Given the description of an element on the screen output the (x, y) to click on. 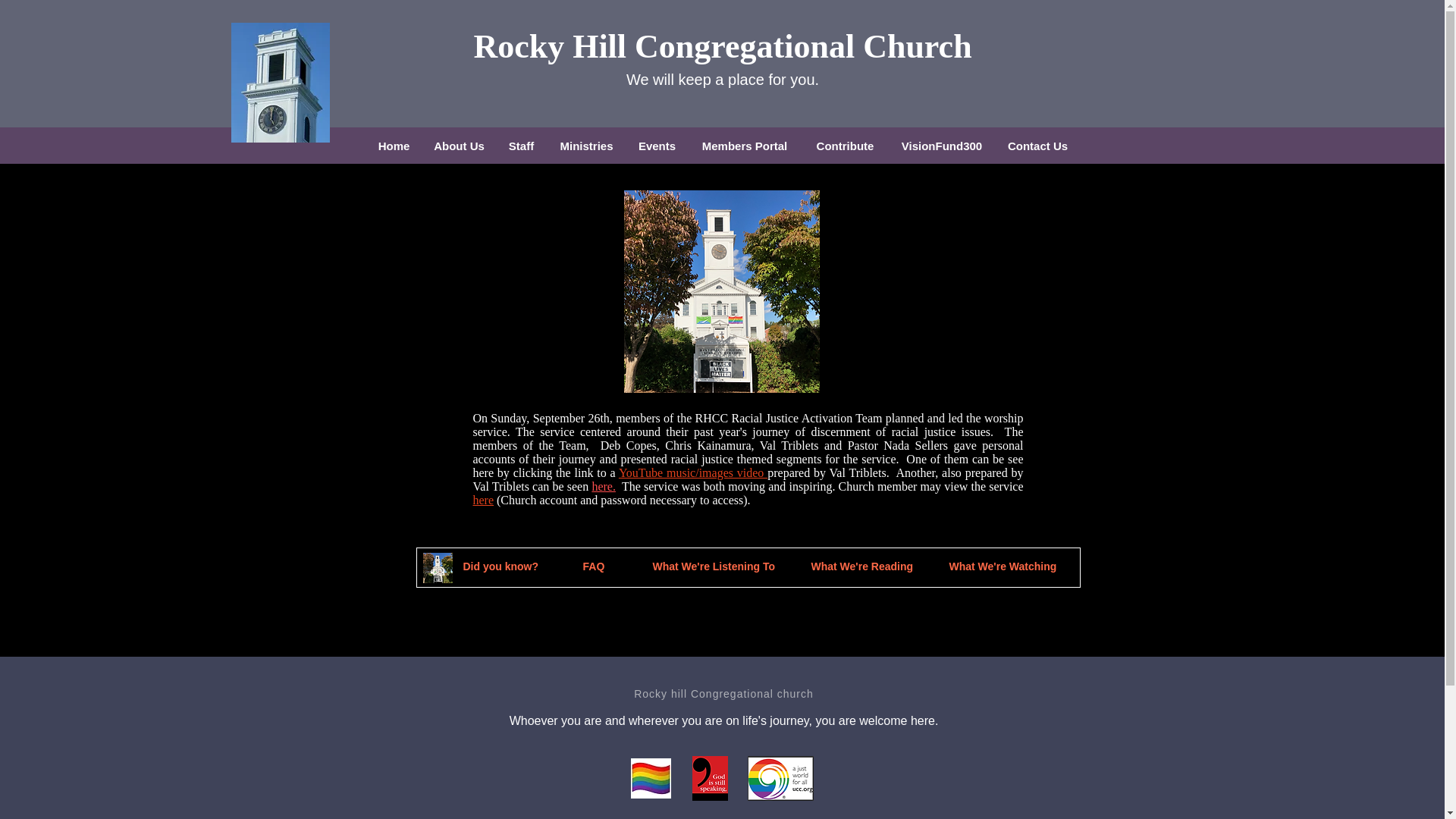
What We're Listening To (717, 566)
Contact Us (1037, 146)
Did you know? (502, 566)
Staff (521, 146)
Home (393, 146)
here. (603, 486)
Contribute (845, 146)
Ministries (586, 146)
VisionFund300 (941, 146)
Members Portal (744, 146)
